Given the description of an element on the screen output the (x, y) to click on. 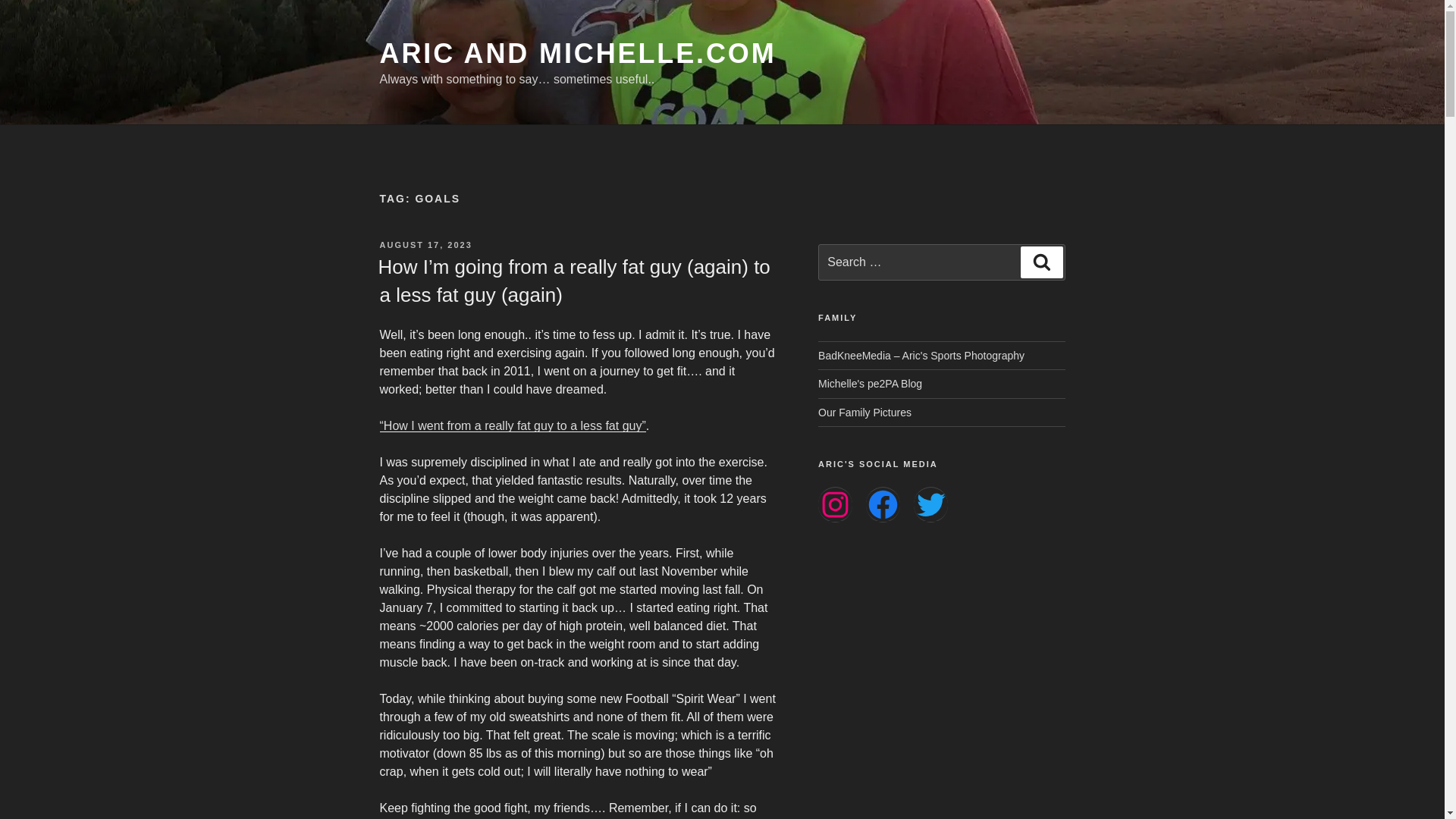
ARIC AND MICHELLE.COM (577, 52)
AUGUST 17, 2023 (424, 244)
